Given the description of an element on the screen output the (x, y) to click on. 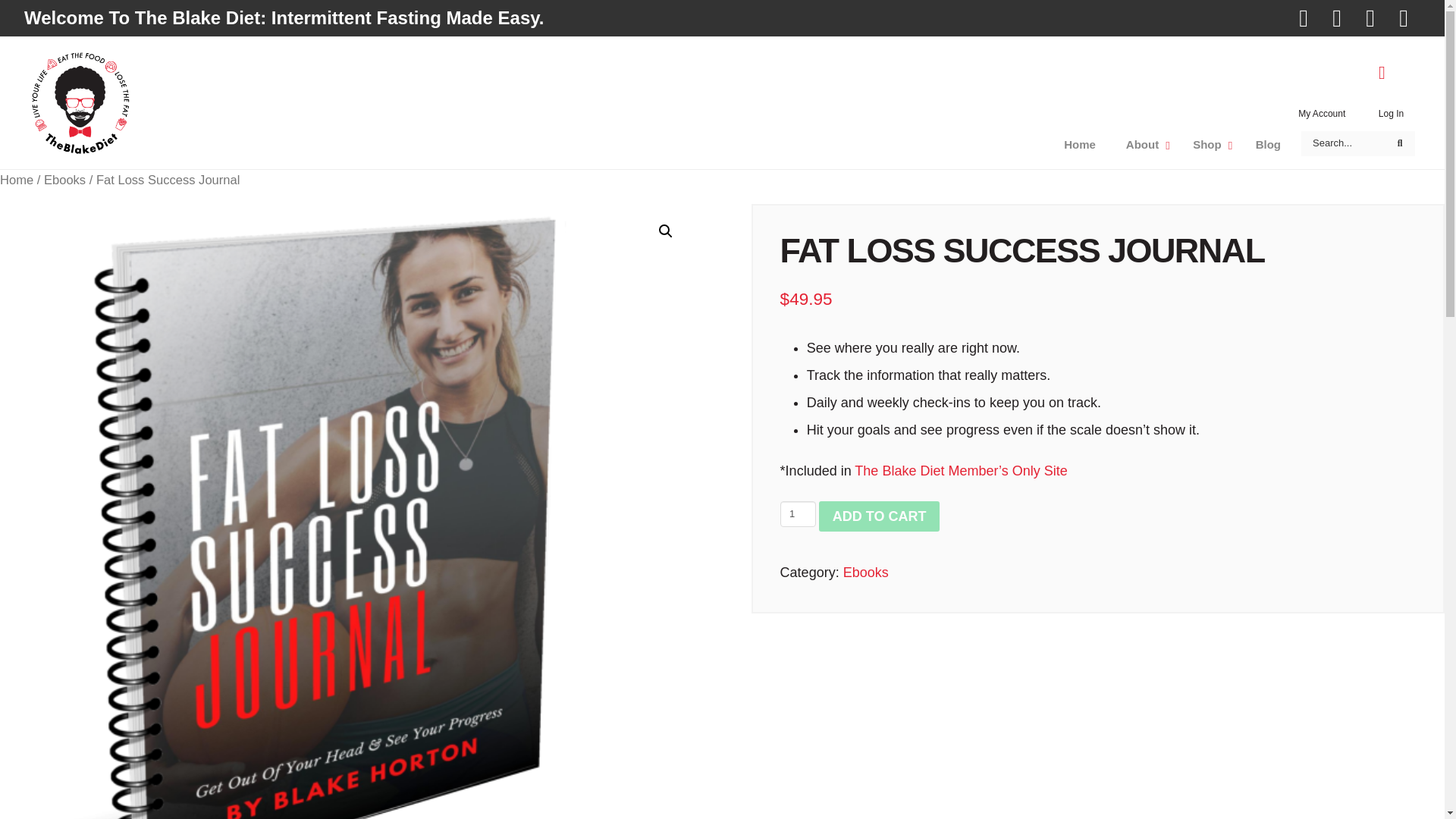
Blog (1267, 144)
Log In (1234, 144)
My Account (1390, 113)
fat-loss-success-journal (1321, 113)
Home (1400, 143)
Ebooks (16, 179)
About (64, 179)
1 (1143, 144)
Shop (797, 514)
Search (1208, 144)
Home (1399, 143)
